Given the description of an element on the screen output the (x, y) to click on. 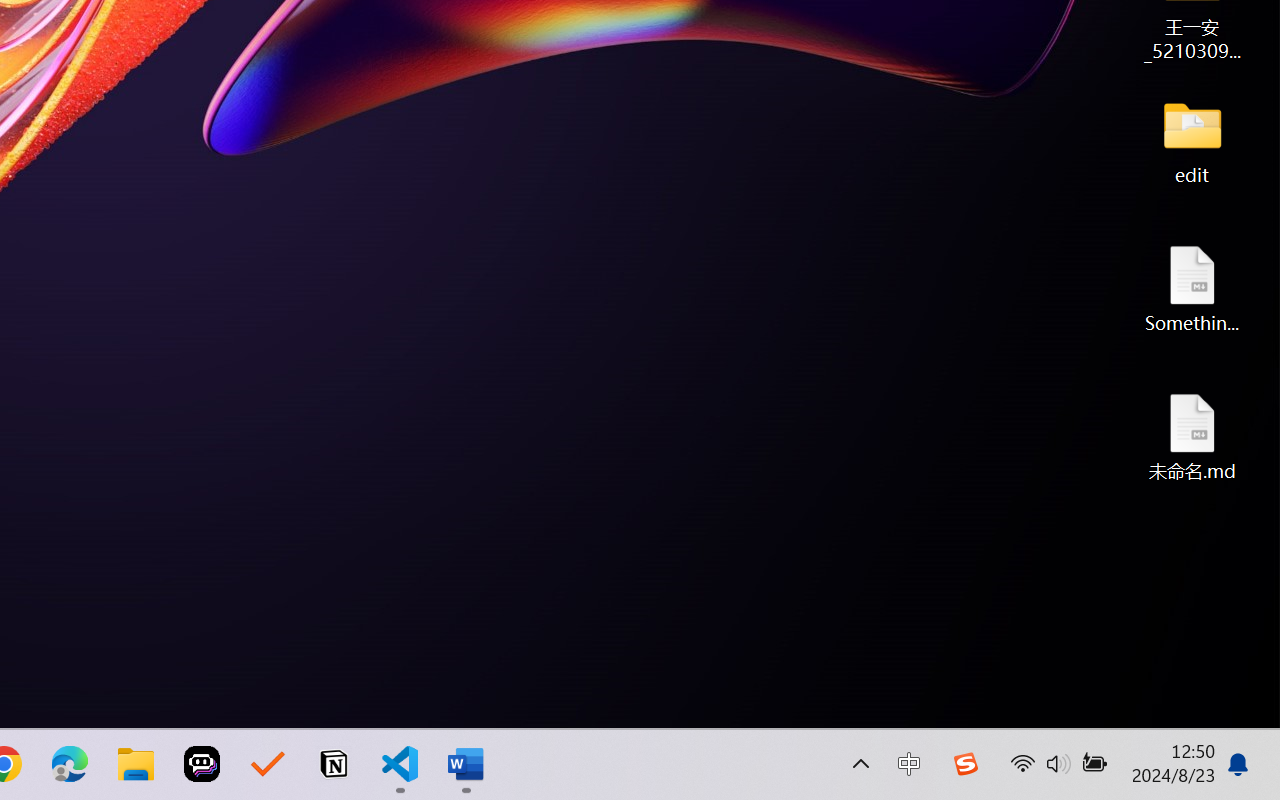
Something.md (1192, 288)
